Given the description of an element on the screen output the (x, y) to click on. 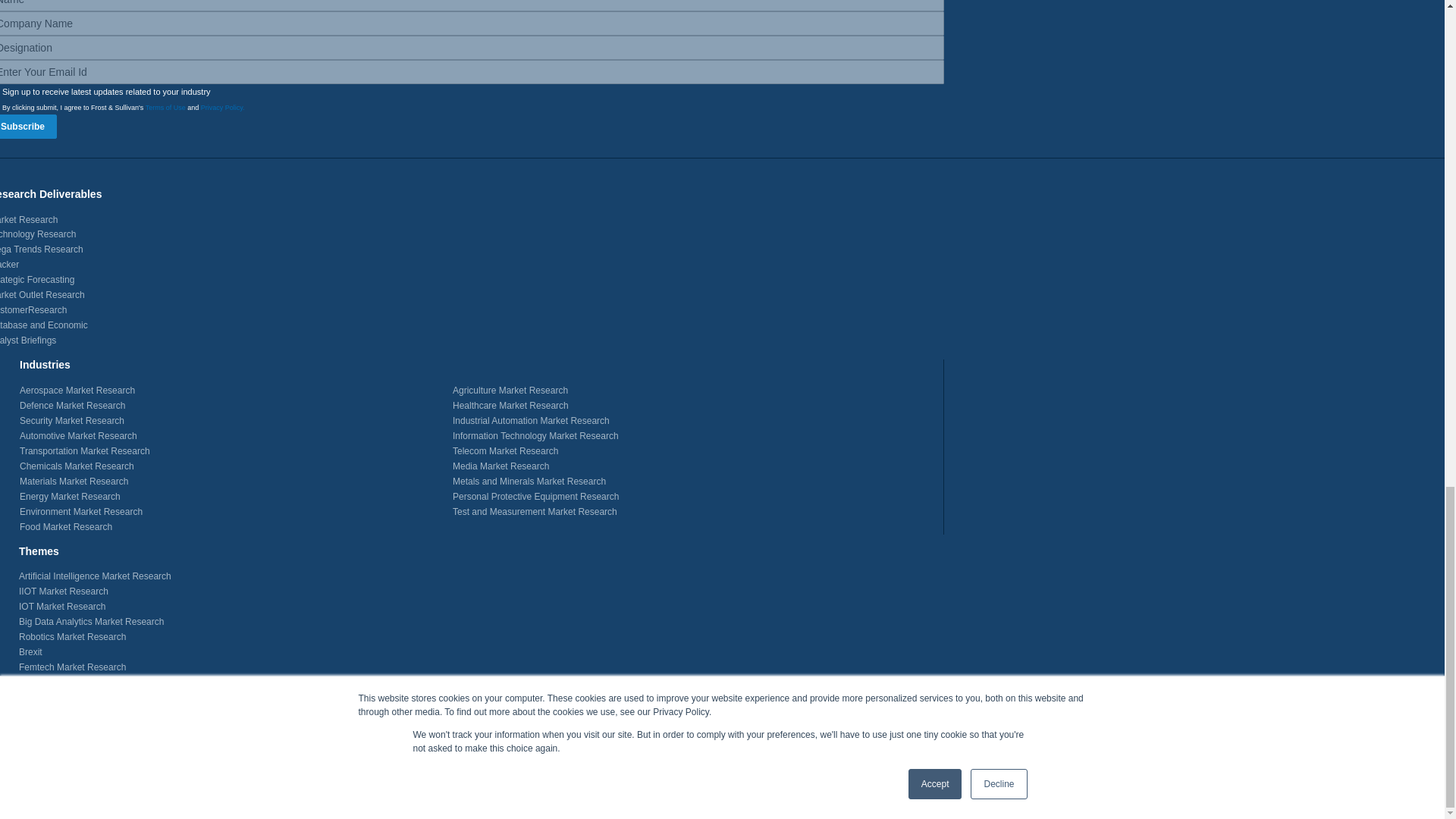
Email (471, 71)
Name (471, 5)
Fintech (33, 682)
Designation (471, 47)
Company Name (471, 23)
Femtech Market Research (71, 666)
